Given the description of an element on the screen output the (x, y) to click on. 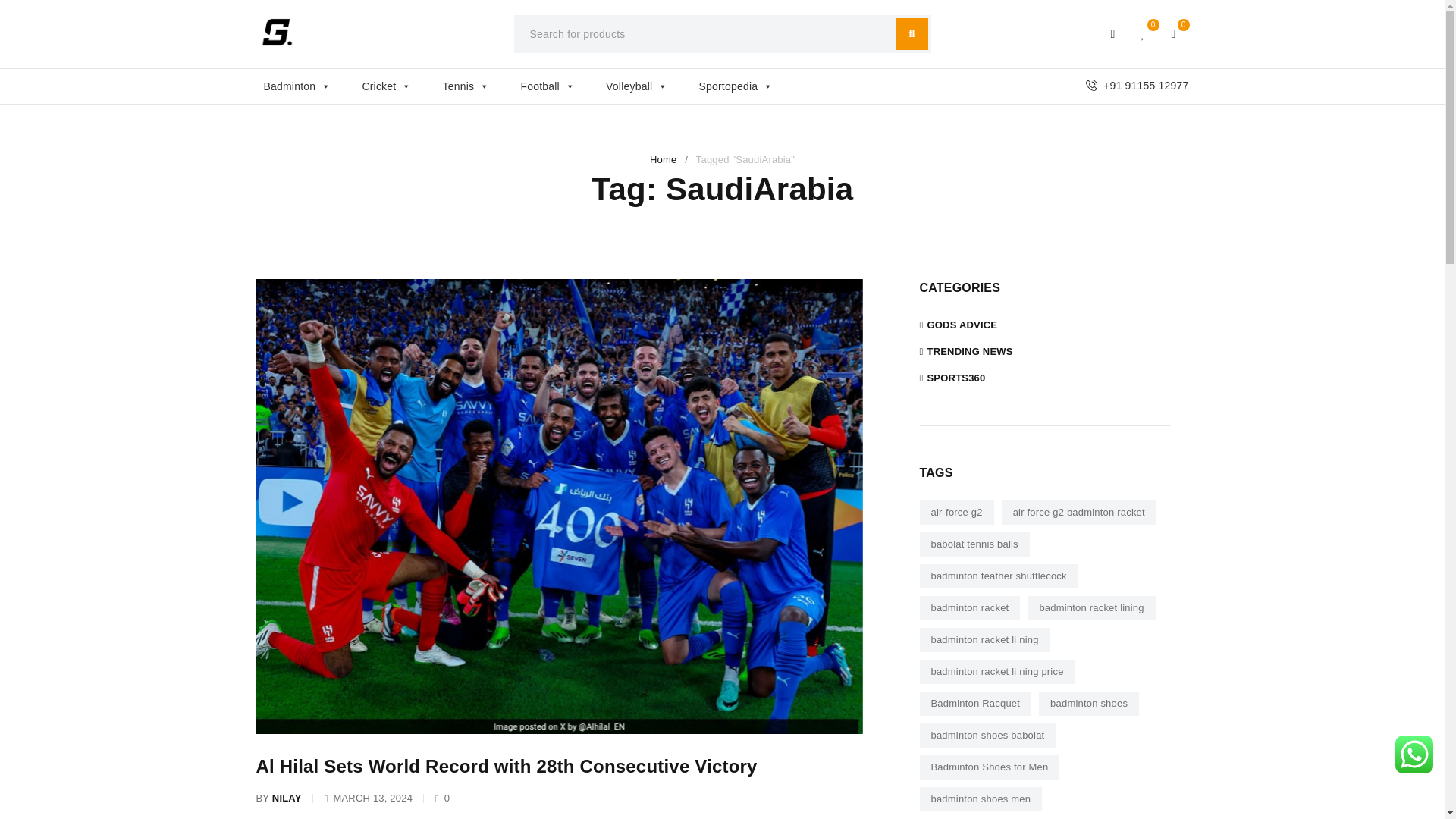
Search (912, 33)
thegodofsports (277, 32)
0 (1173, 33)
Search (912, 33)
Wishlist (1143, 33)
Badminton (304, 86)
0 (1143, 33)
Login or Register (1112, 33)
Posts by Nilay (286, 798)
View your shopping cart (1173, 33)
